Given the description of an element on the screen output the (x, y) to click on. 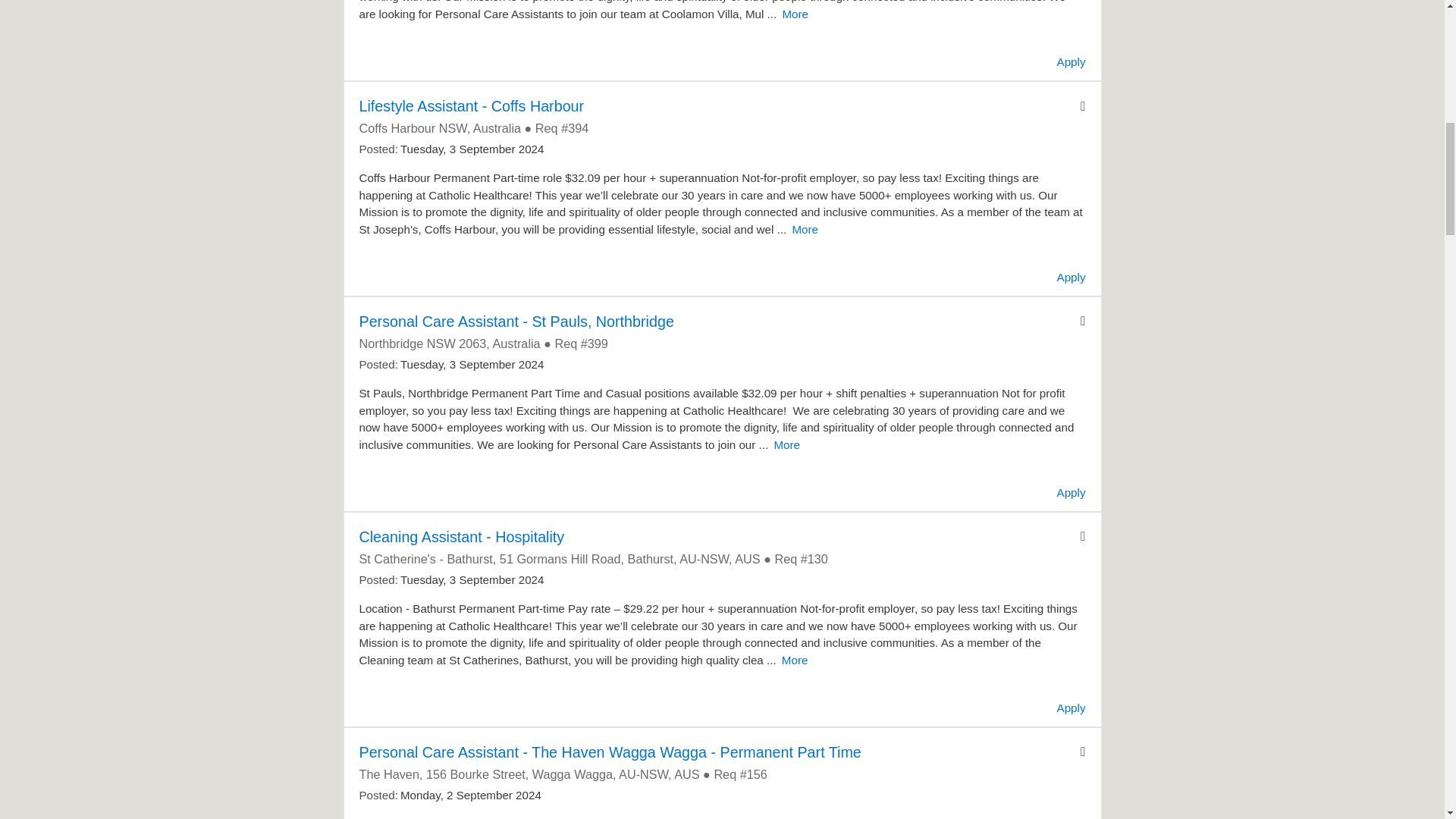
Lifestyle Assistant - Coffs Harbour (472, 105)
More (794, 13)
Apply (1071, 61)
